Given the description of an element on the screen output the (x, y) to click on. 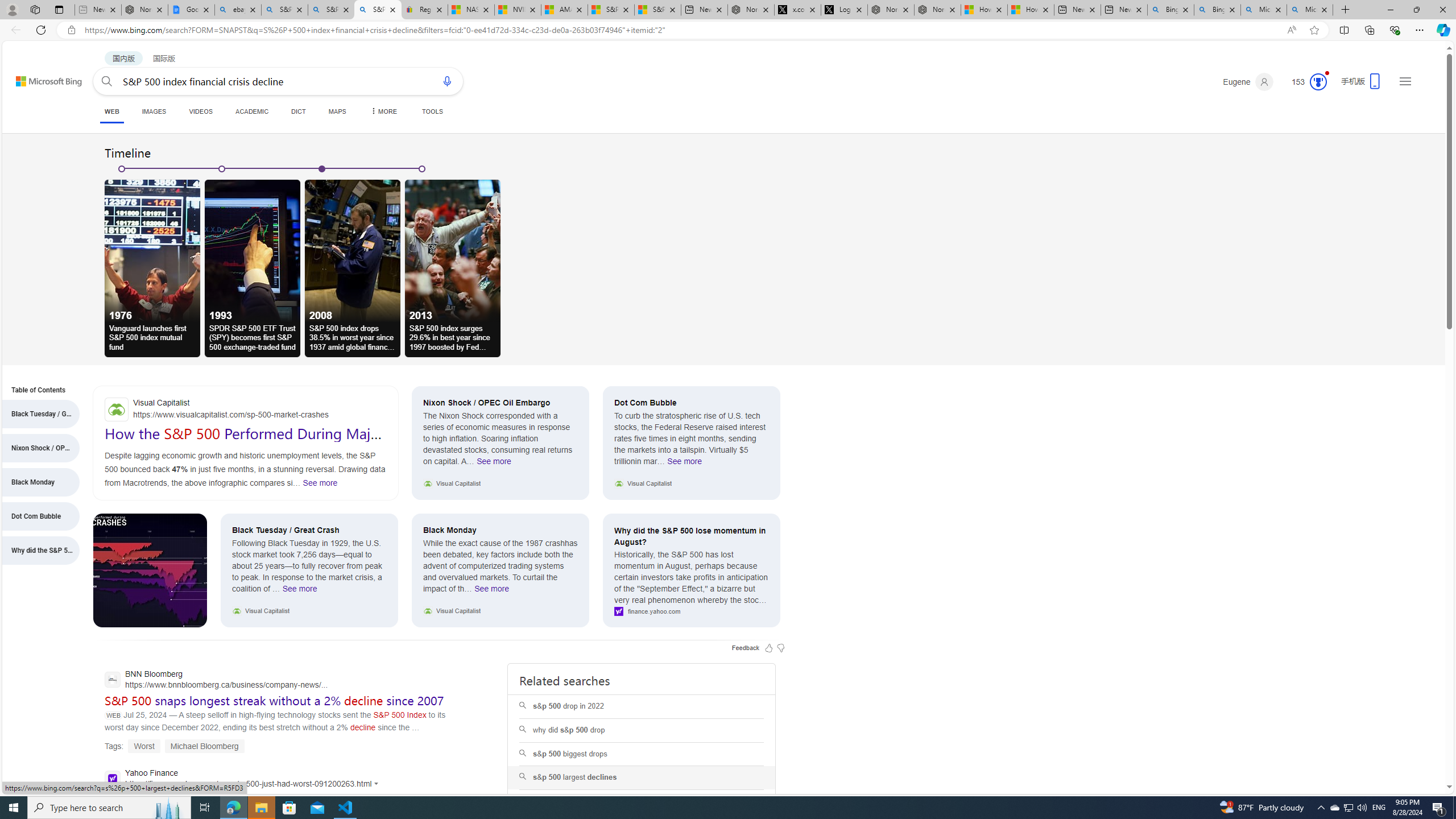
See more Black Tuesday / Great Crash (299, 591)
TOOLS (431, 111)
S&P 500 index financial crisis decline - Search (377, 9)
MAPS (336, 111)
Dropdown Menu (382, 111)
Search button (106, 80)
